Given the description of an element on the screen output the (x, y) to click on. 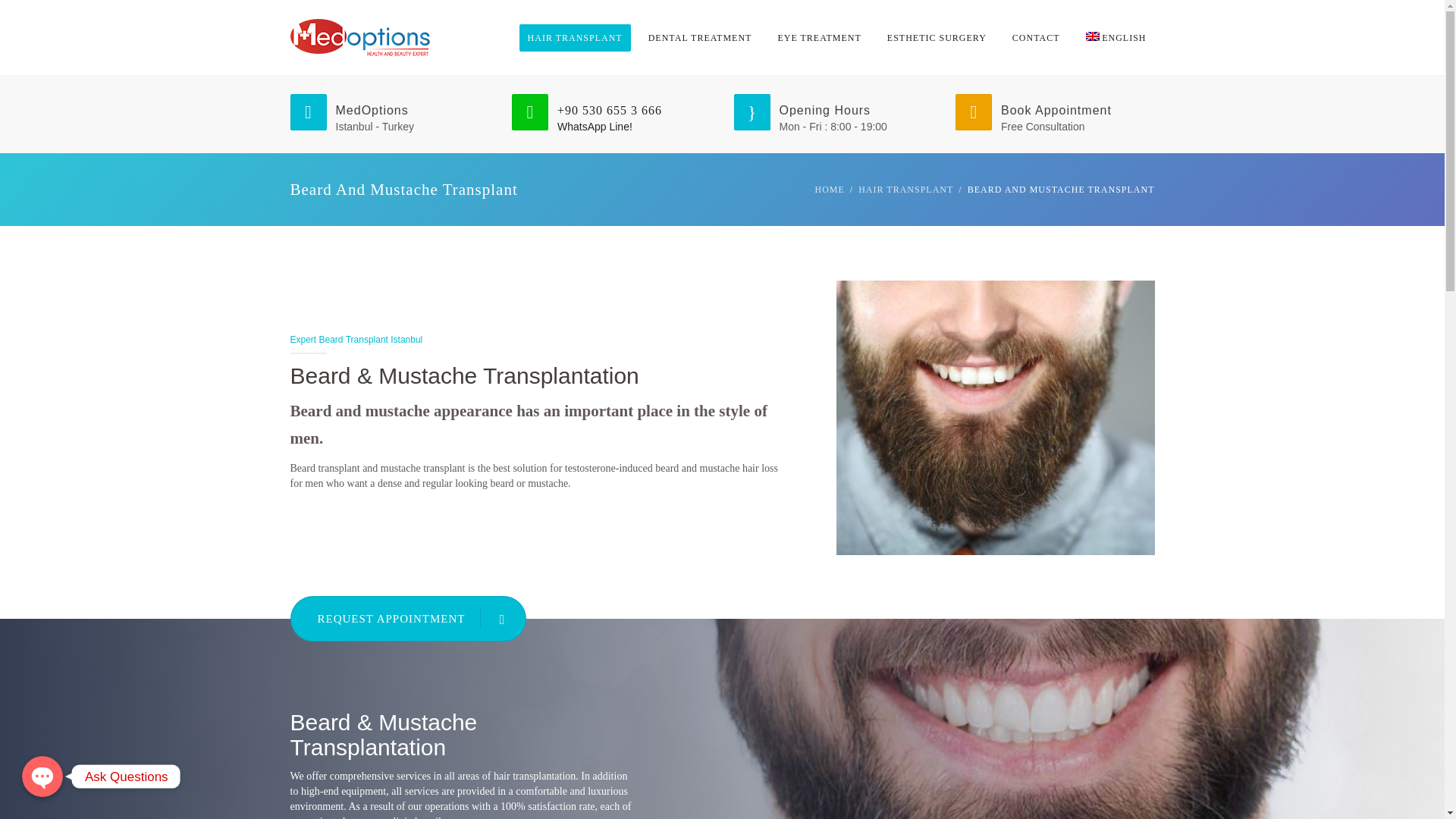
English (1115, 37)
